Given the description of an element on the screen output the (x, y) to click on. 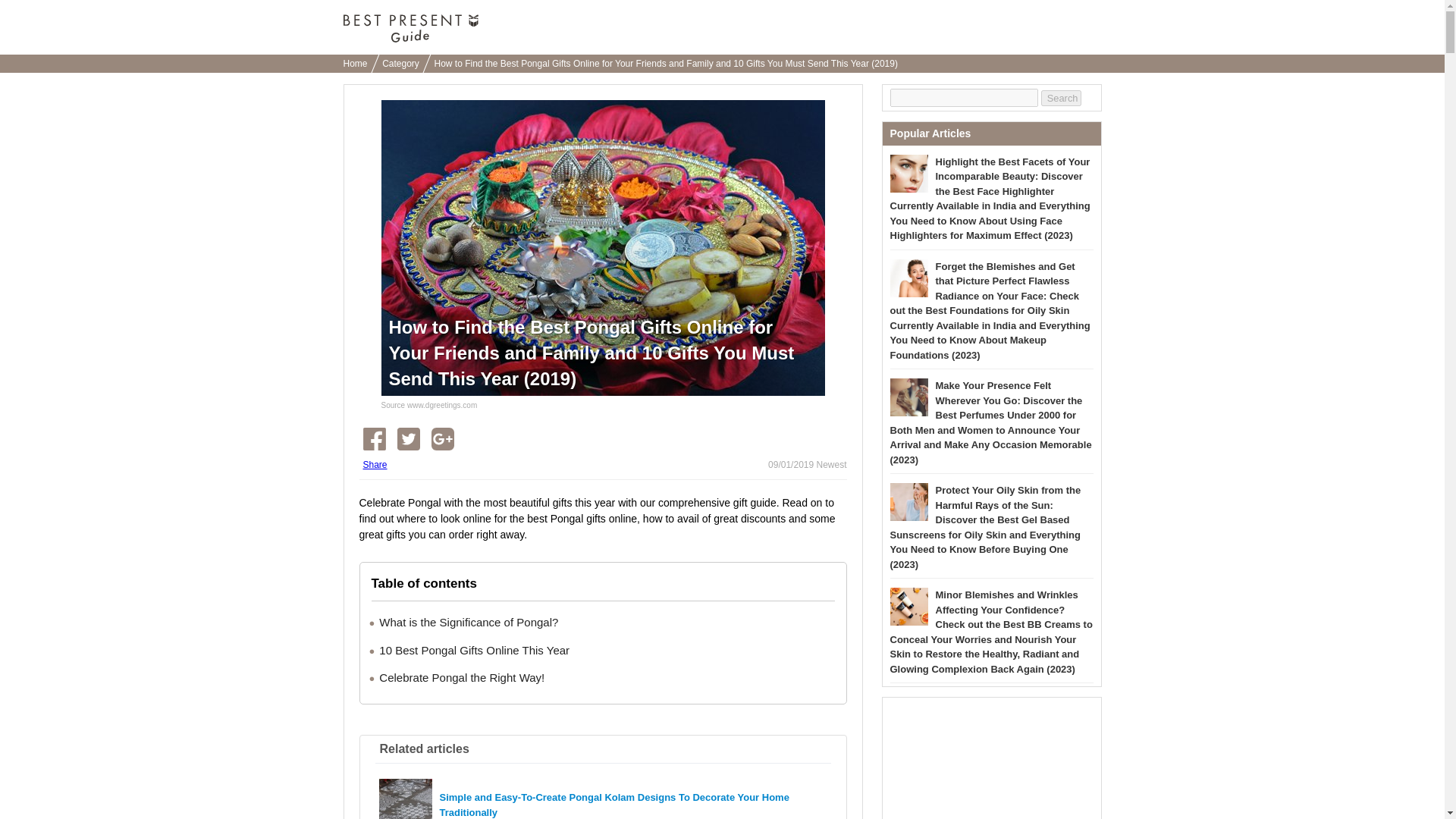
Celebrate Pongal the Right Way! (461, 676)
www.dgreetings.com (442, 405)
What is the Significance of Pongal? (467, 621)
10 Best Pongal Gifts Online This Year (473, 649)
Home (358, 62)
Share (374, 464)
Search (1061, 97)
Search (1061, 97)
Category (403, 62)
